Given the description of an element on the screen output the (x, y) to click on. 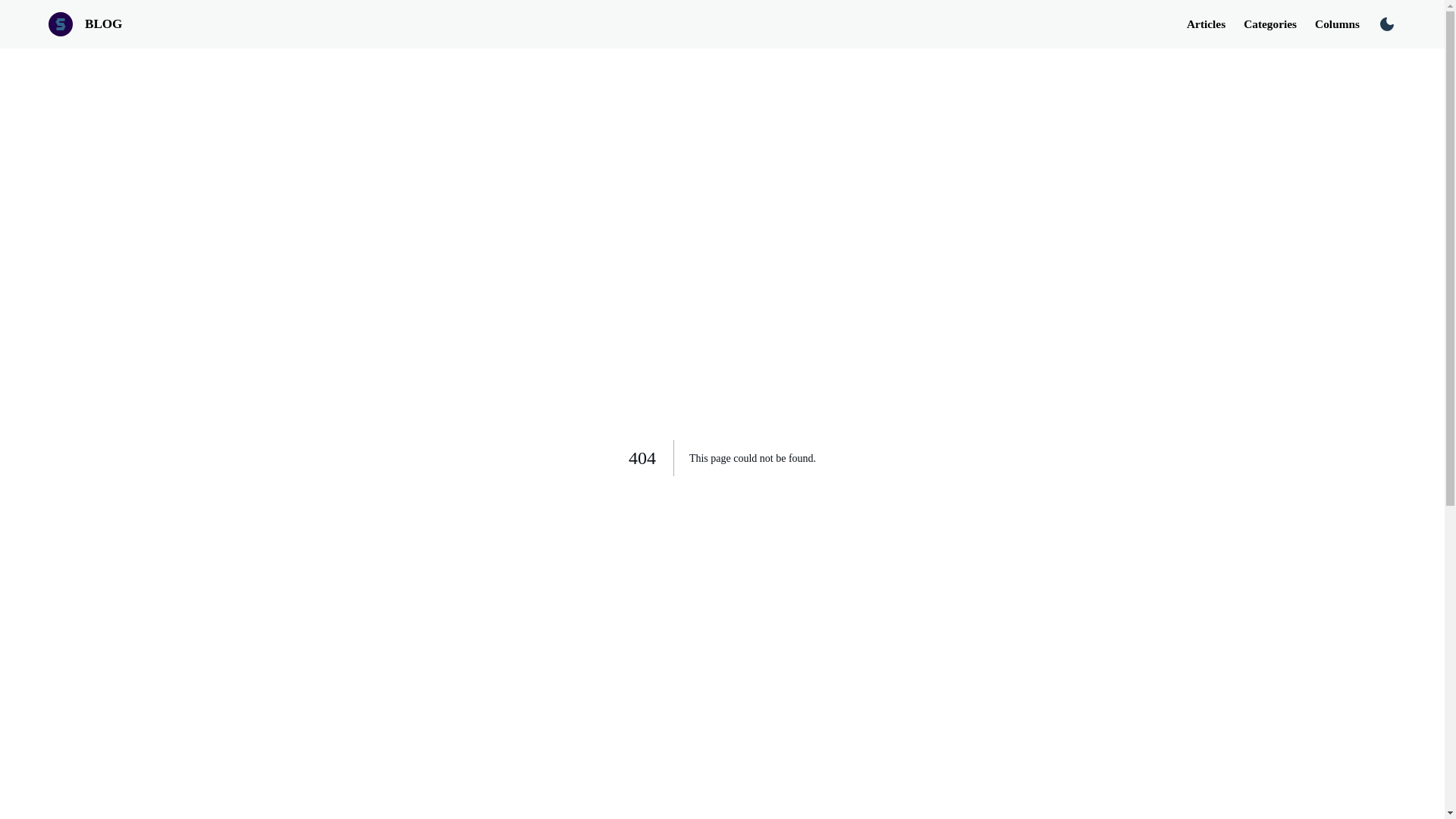
Articles (1214, 23)
Categories (1278, 23)
Columns (1345, 23)
